Given the description of an element on the screen output the (x, y) to click on. 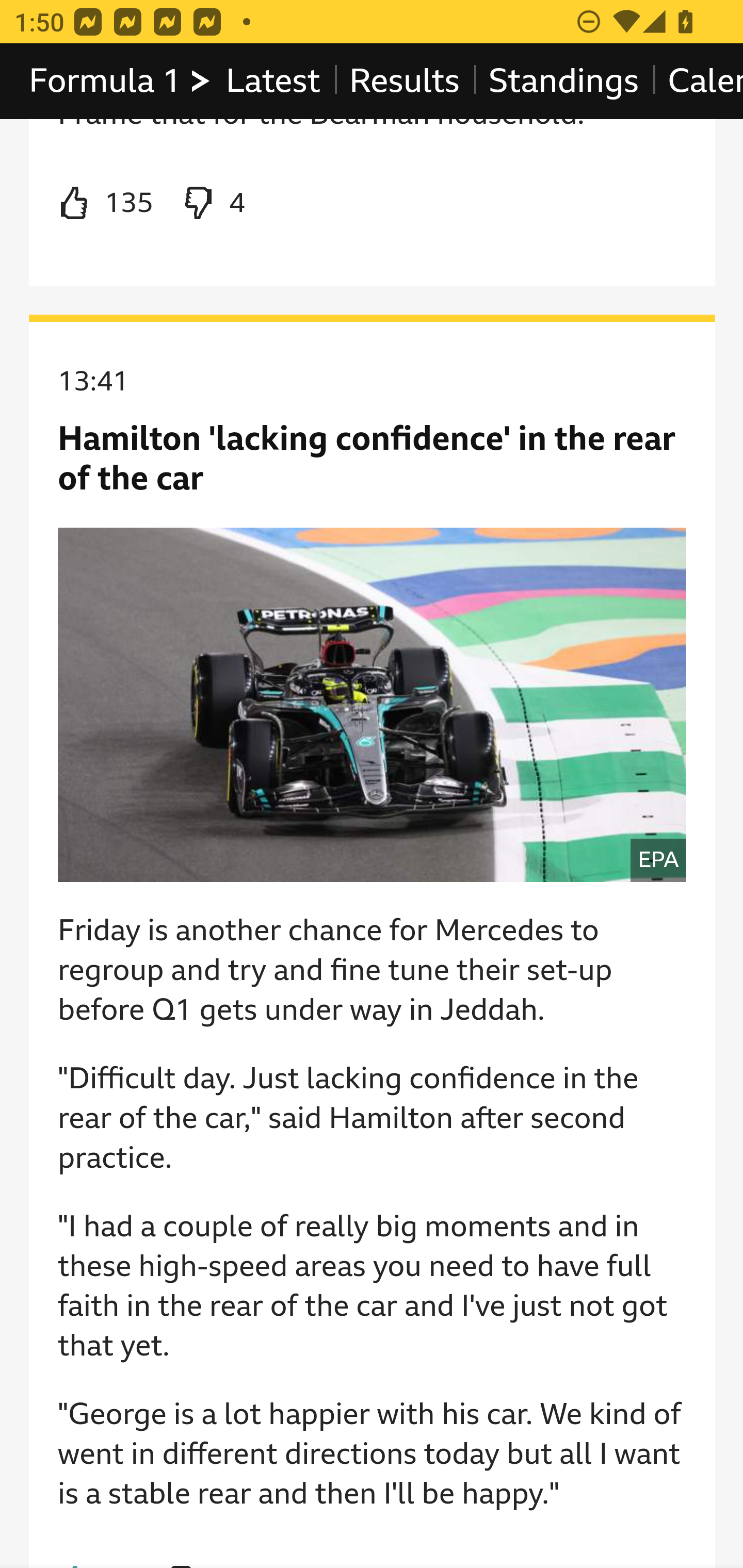
Like (105, 205)
Dislike (212, 205)
